Given the description of an element on the screen output the (x, y) to click on. 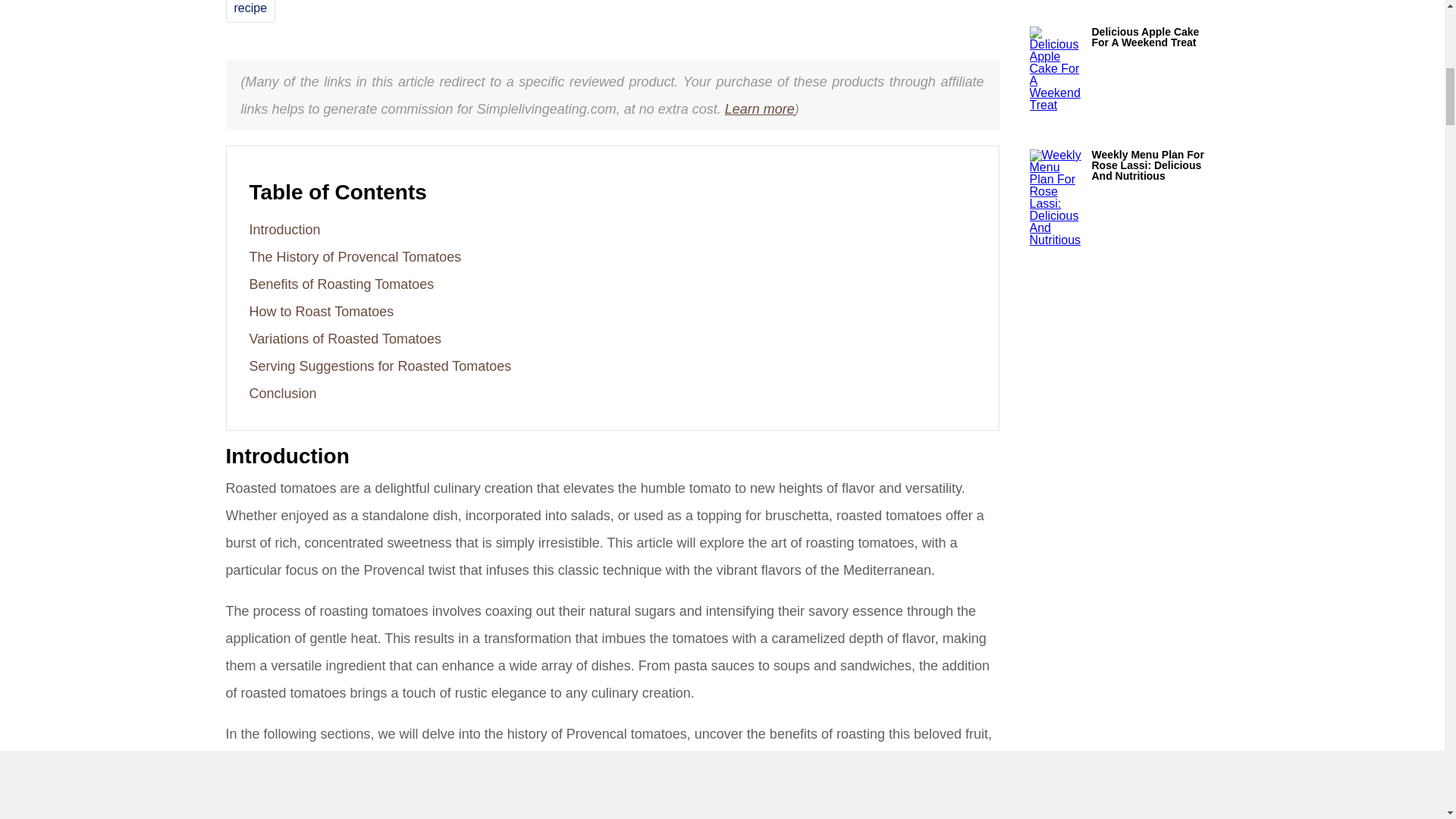
Variations of Roasted Tomatoes (344, 338)
Conclusion (281, 393)
Delicious Apple Cake For A Weekend Treat (1156, 36)
How to Roast Tomatoes (320, 311)
Learn more (759, 109)
Weekly Menu Plan For Rose Lassi: Delicious And Nutritious (1156, 164)
Benefits of Roasting Tomatoes (340, 283)
recipe (249, 7)
Serving Suggestions for Roasted Tomatoes (379, 365)
